Given the description of an element on the screen output the (x, y) to click on. 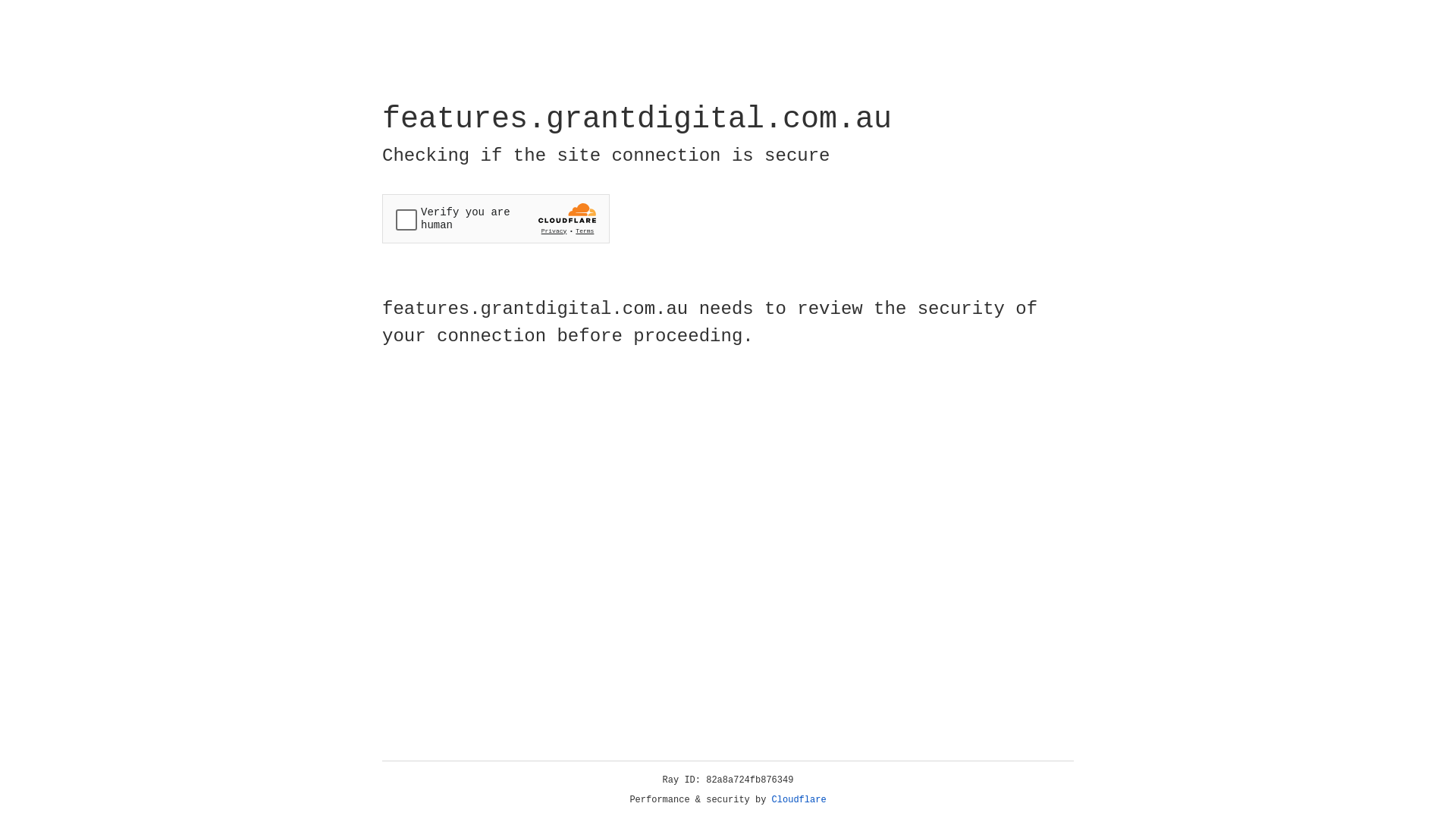
Widget containing a Cloudflare security challenge Element type: hover (495, 218)
Cloudflare Element type: text (798, 799)
